Given the description of an element on the screen output the (x, y) to click on. 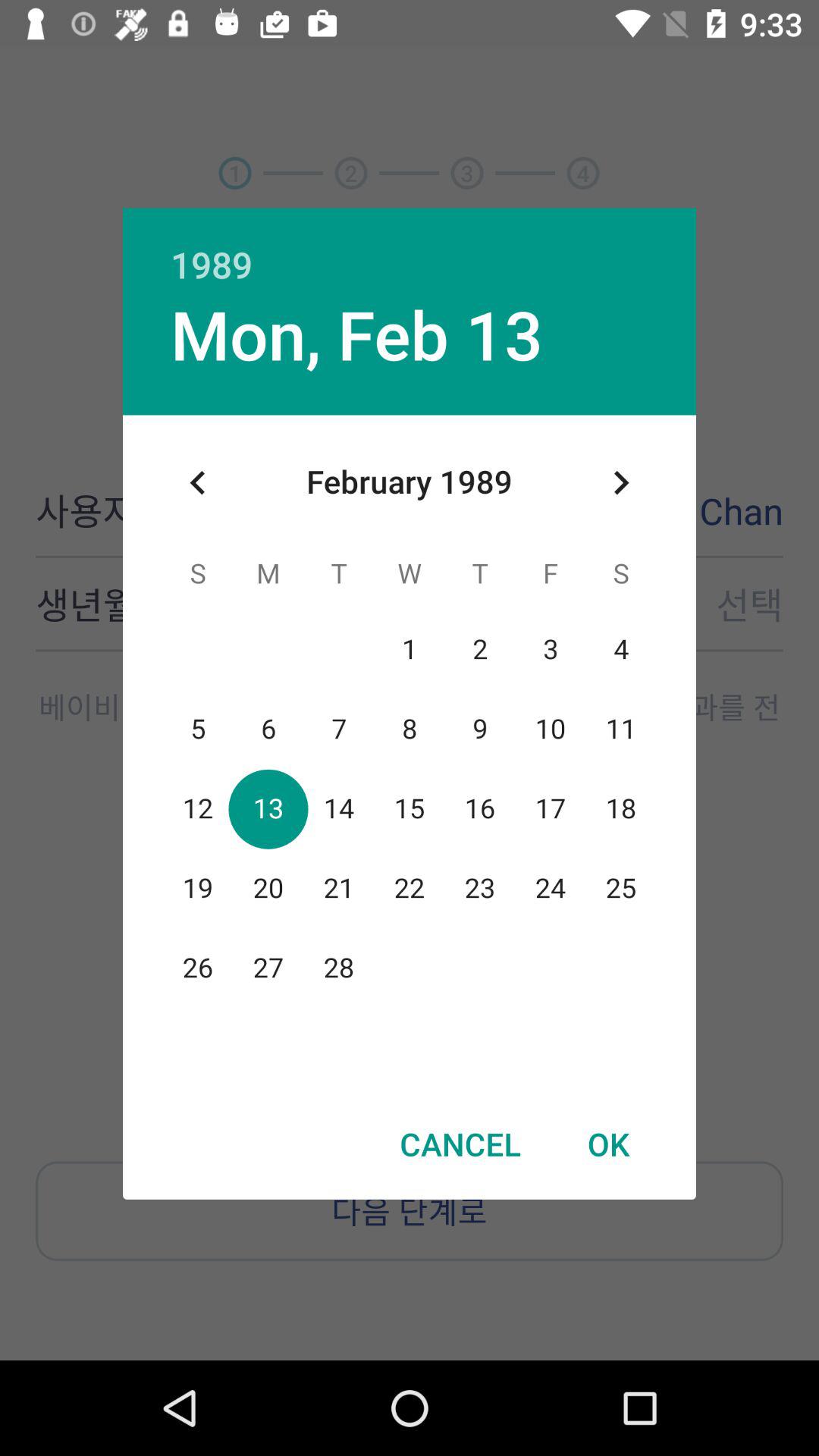
jump to mon, feb 13 (356, 333)
